Given the description of an element on the screen output the (x, y) to click on. 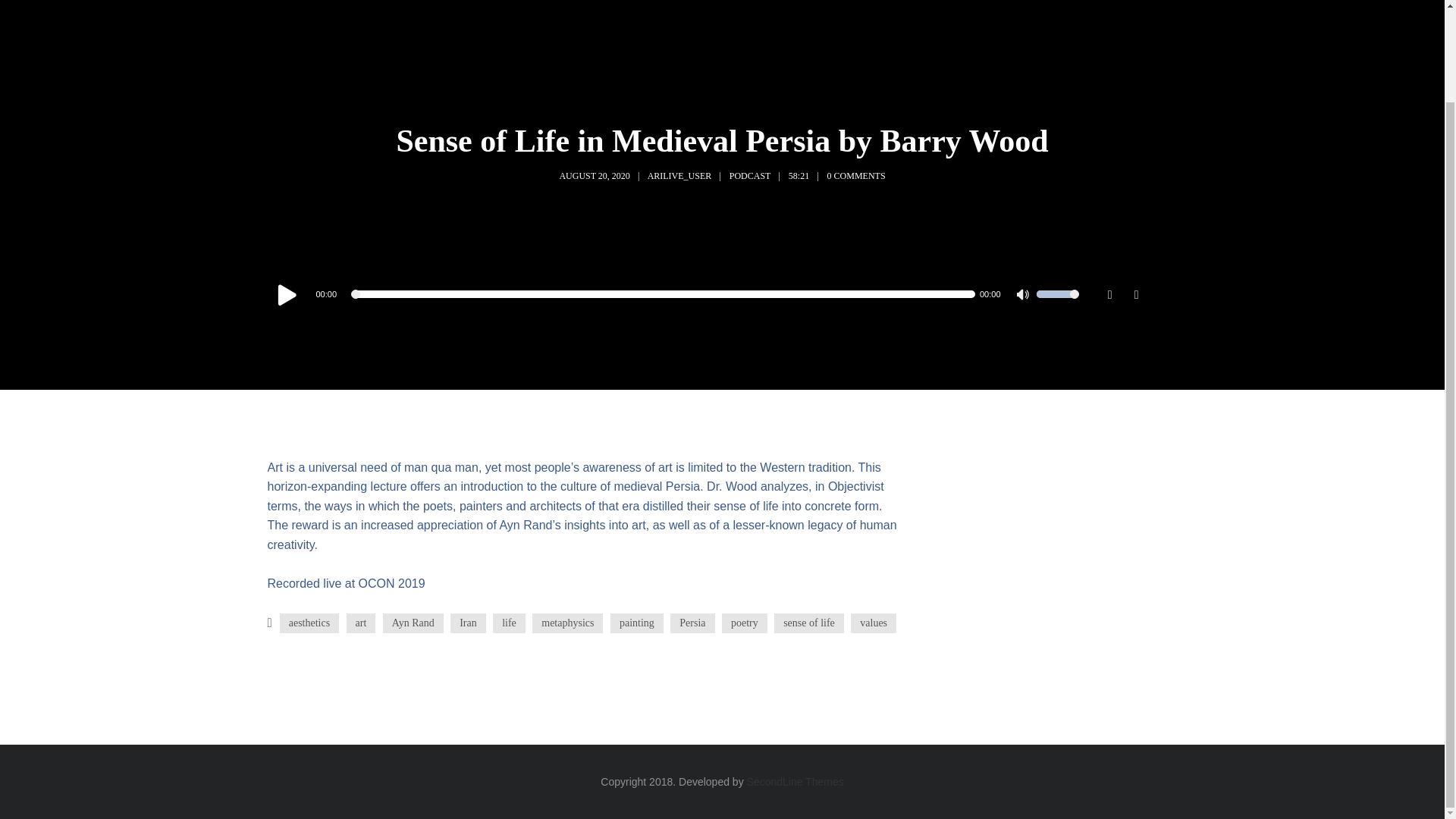
values (873, 623)
SecondLine Themes (795, 781)
art (360, 623)
Ayn Rand (413, 623)
Mute (1023, 296)
painting (636, 623)
0 COMMENTS (856, 175)
aesthetics (309, 623)
Play (285, 294)
Iran (467, 623)
